Given the description of an element on the screen output the (x, y) to click on. 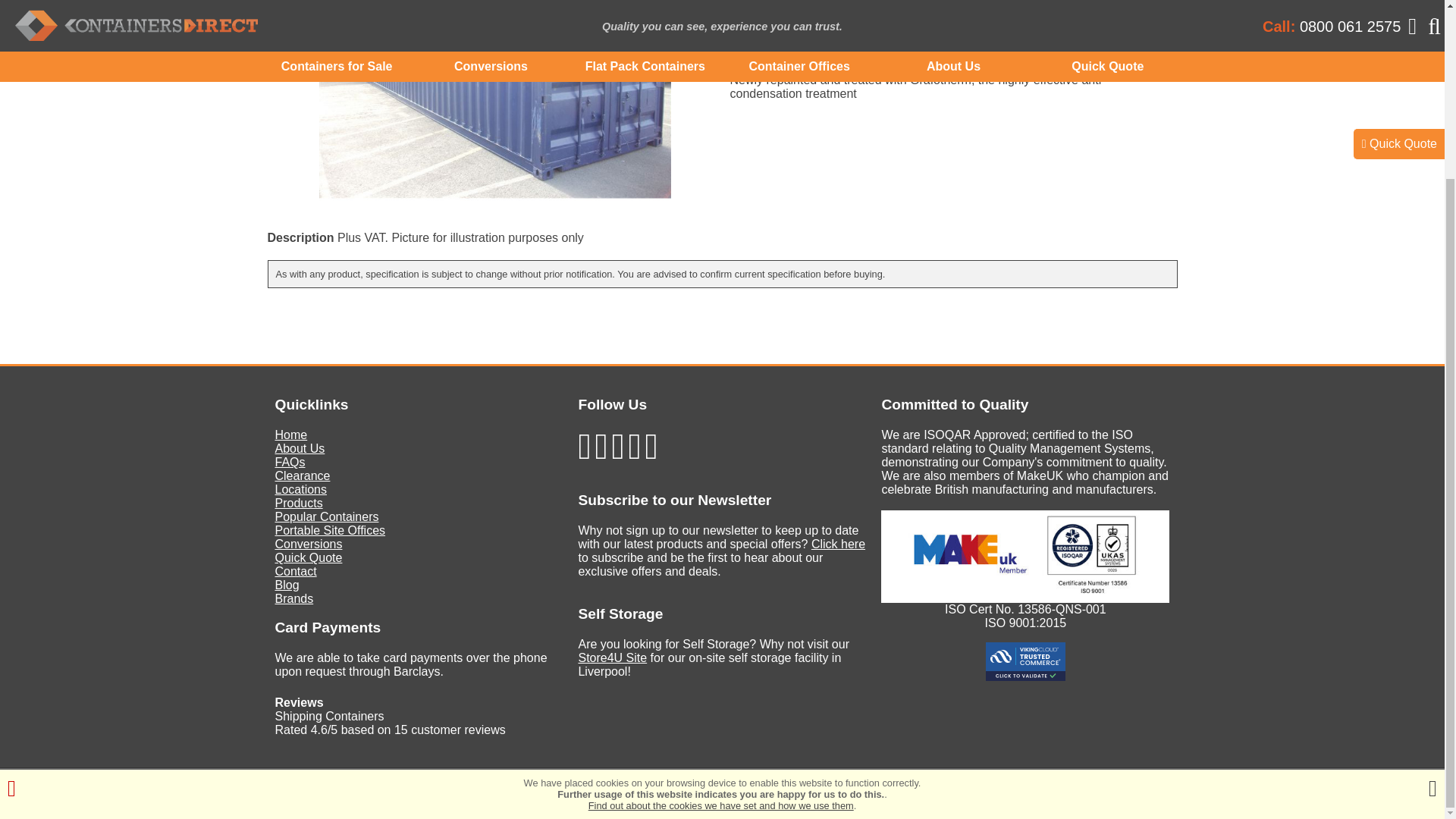
Home (291, 434)
View All Container Conversions (795, 38)
Find out about the cookies we have set and how we use them (720, 586)
